Given the description of an element on the screen output the (x, y) to click on. 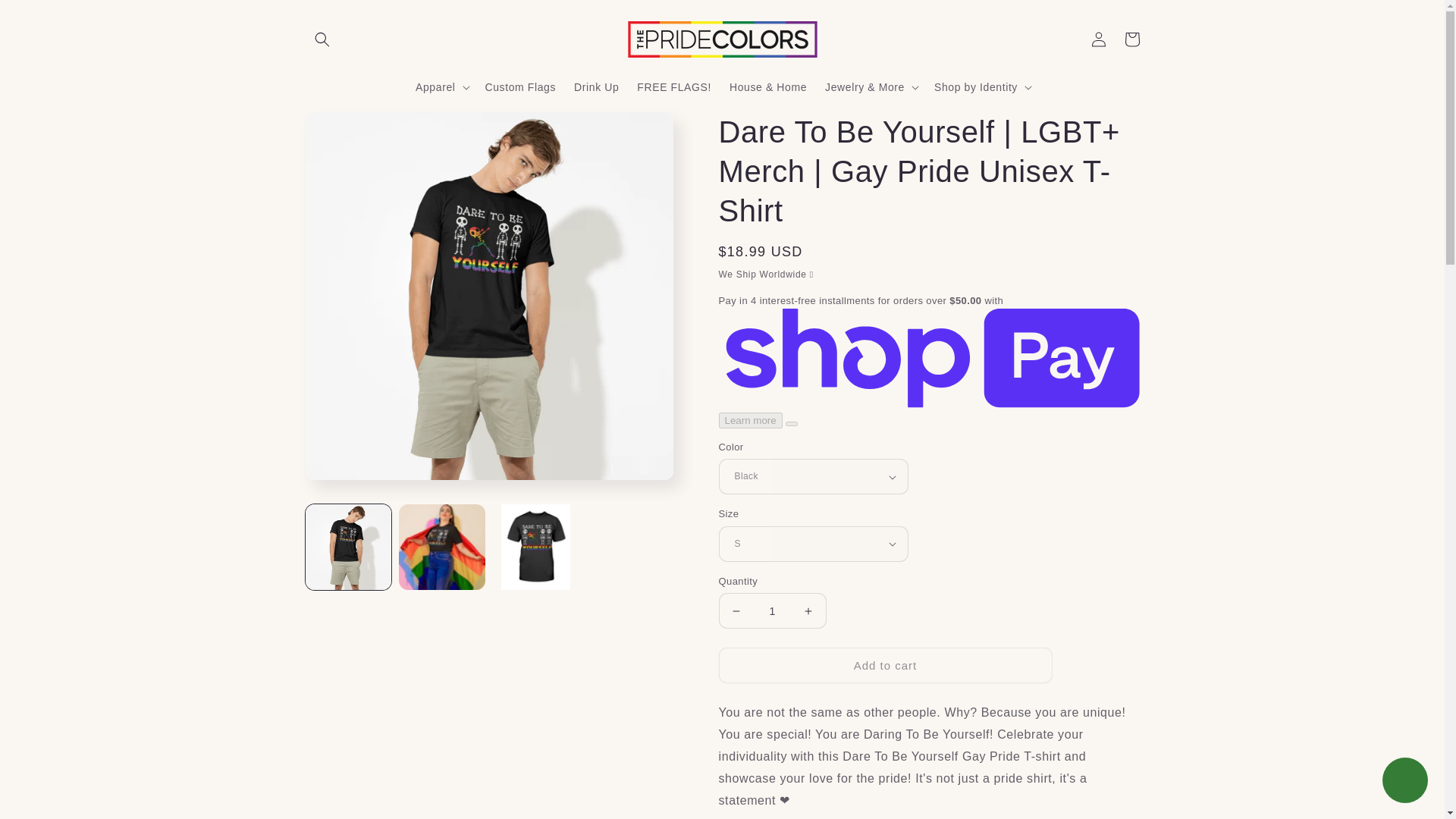
1 (773, 610)
Custom Flags (521, 87)
Shopify online store chat (1404, 781)
FREE FLAGS! (673, 87)
Drink Up (595, 87)
Skip to content (45, 17)
